Given the description of an element on the screen output the (x, y) to click on. 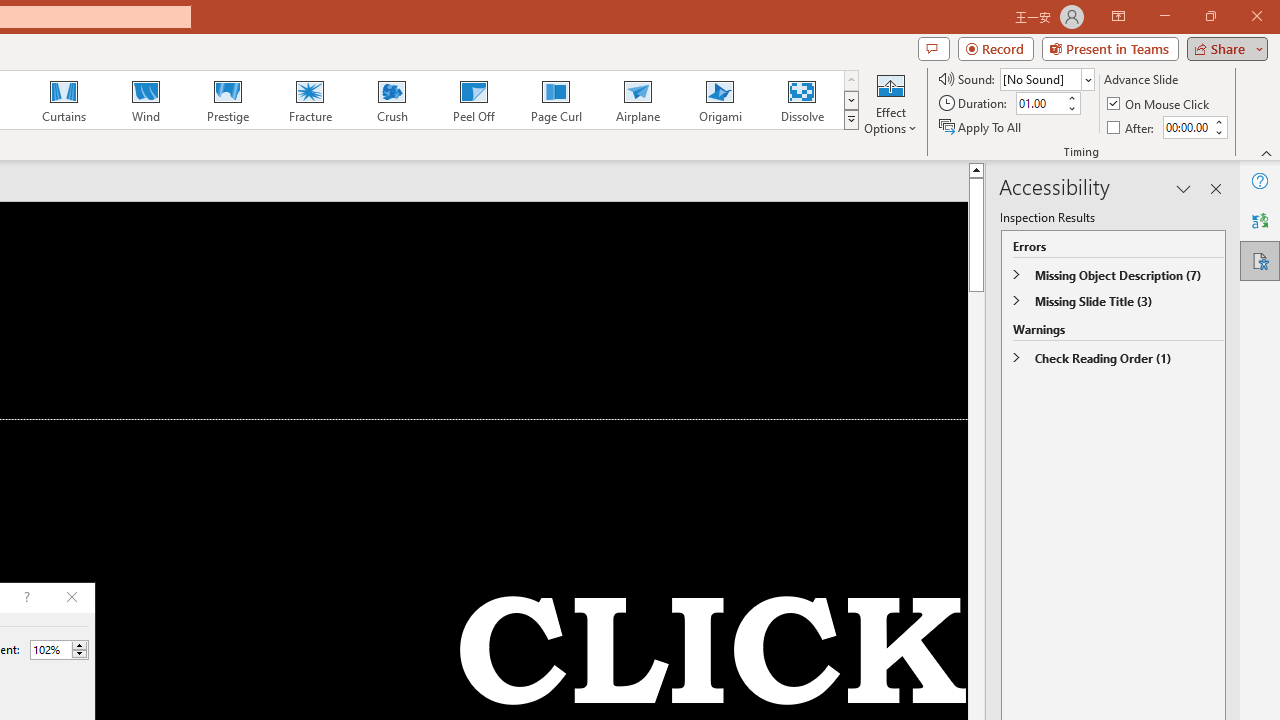
Dissolve (802, 100)
Percent (59, 650)
Duration (1039, 103)
Wind (145, 100)
Apply To All (981, 126)
Fracture (309, 100)
After (1131, 126)
